Given the description of an element on the screen output the (x, y) to click on. 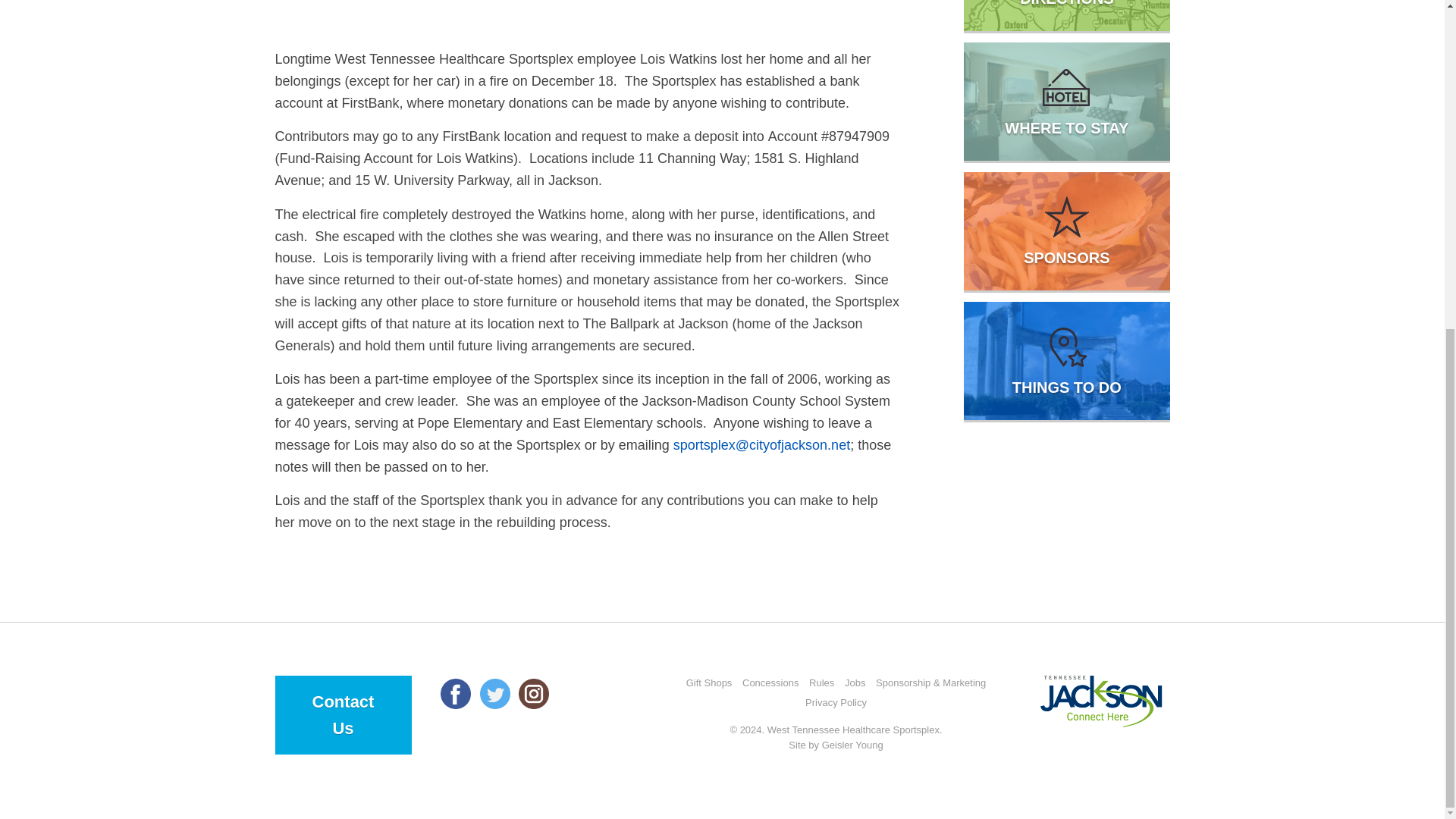
THINGS TO DO (1066, 361)
Jobs (854, 683)
SPONSORS (1066, 230)
DIRECTIONS (1066, 15)
Concessions (769, 683)
Privacy Policy (835, 703)
Contact Us (342, 714)
WHERE TO STAY (1066, 101)
Site by Geisler Young (835, 745)
Gift Shops (708, 683)
Rules (821, 683)
